Given the description of an element on the screen output the (x, y) to click on. 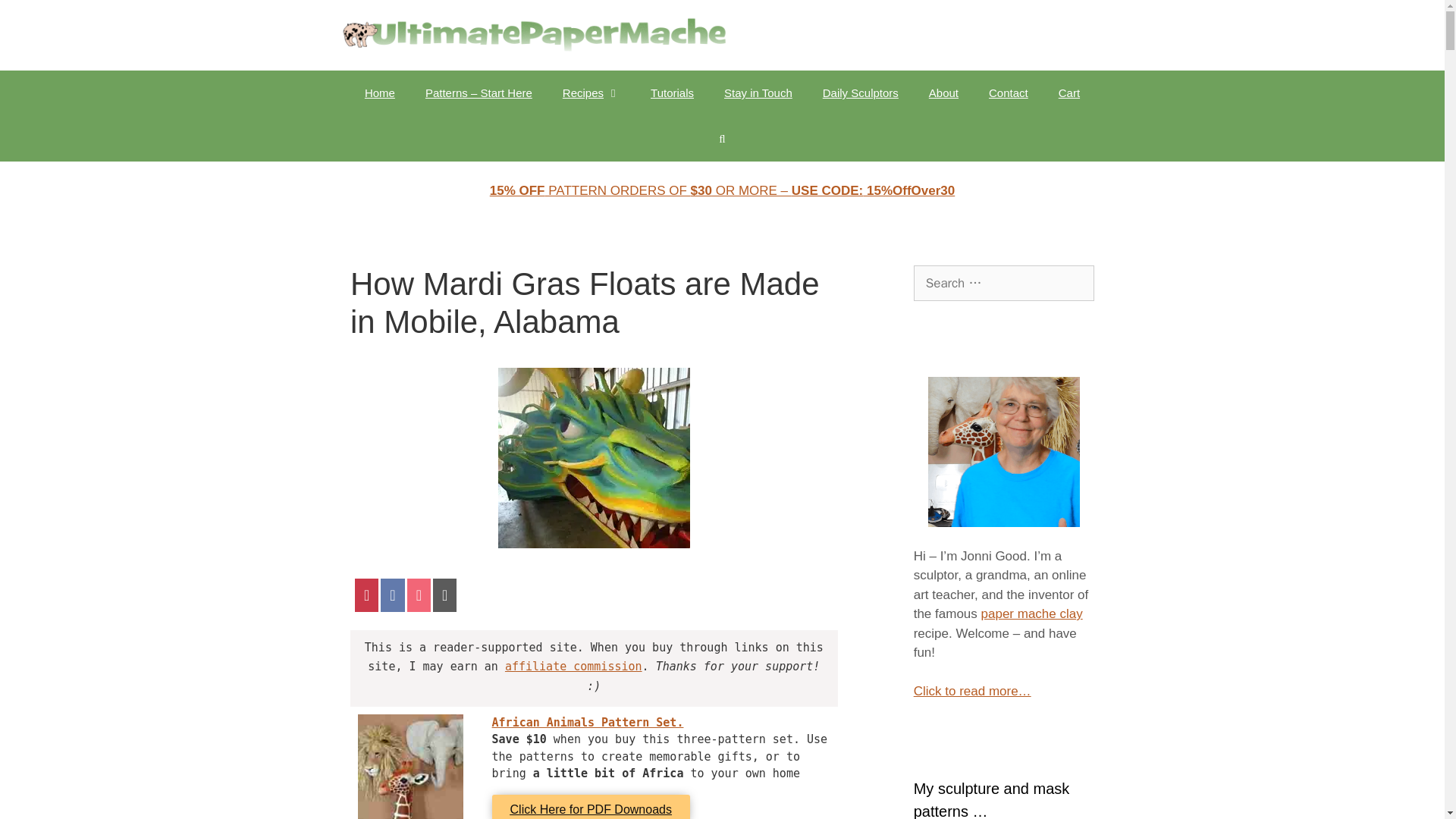
About (944, 93)
How Mardi Gras Floats are Made in Mobile, Alabama 2 (410, 766)
Search for: (1004, 283)
Click Here for PDF Downoads (591, 806)
Contact (1008, 93)
Daily Sculptors (861, 93)
African Animals Pattern Set. (588, 722)
Recipes (590, 93)
affiliate commission (573, 666)
Home (379, 93)
